Given the description of an element on the screen output the (x, y) to click on. 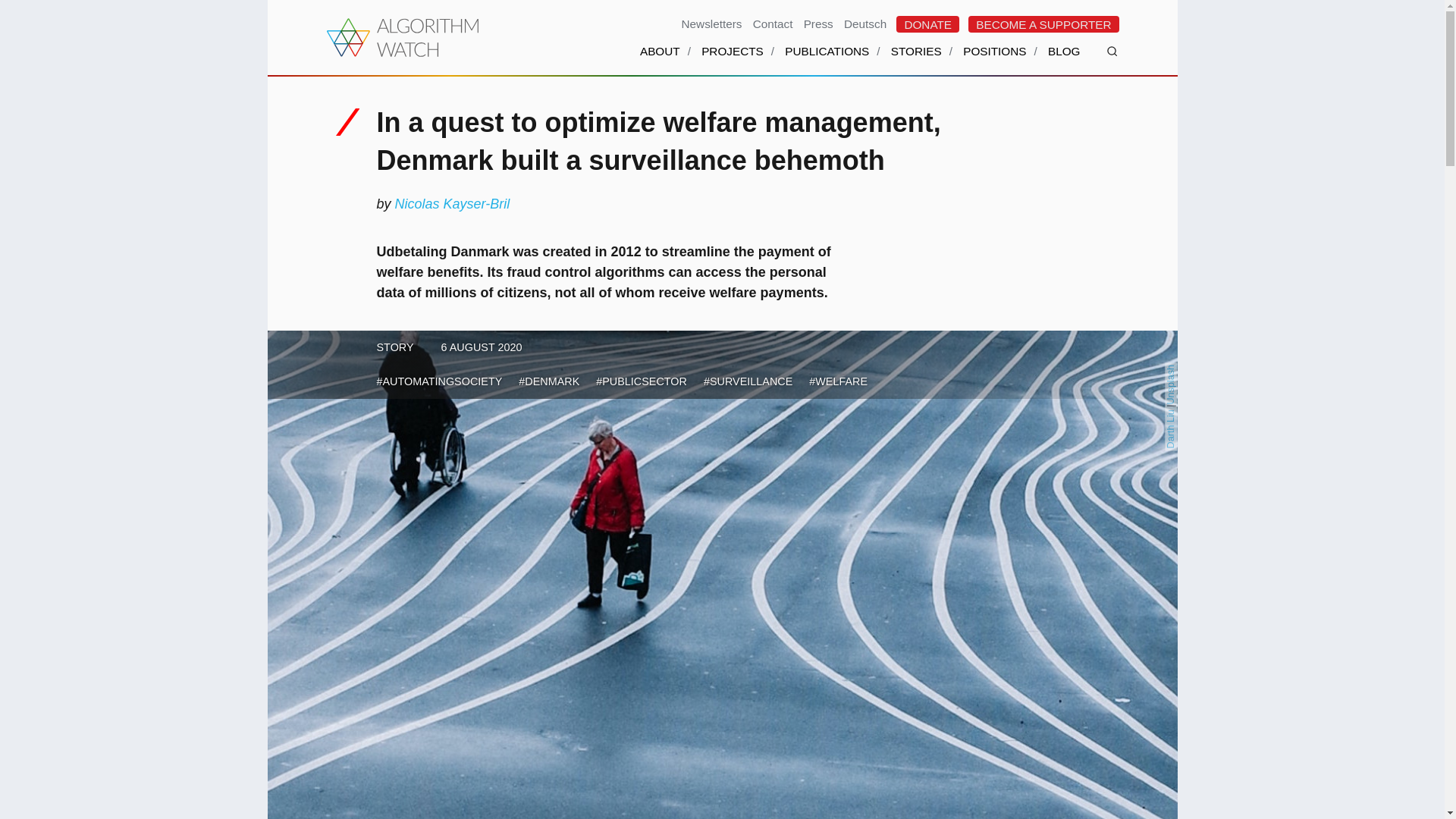
STORY (394, 346)
BLOG (1064, 60)
PUBLICATIONS (826, 60)
STORIES (916, 60)
PROJECTS (731, 60)
DONATE (927, 23)
Nicolas Kayser-Bril (452, 203)
Darth Liu (1186, 412)
BECOME A SUPPORTER (1043, 23)
ABOUT (659, 60)
Press (818, 23)
POSITIONS (994, 60)
Deutsch (864, 23)
Unsplash (1185, 369)
